Given the description of an element on the screen output the (x, y) to click on. 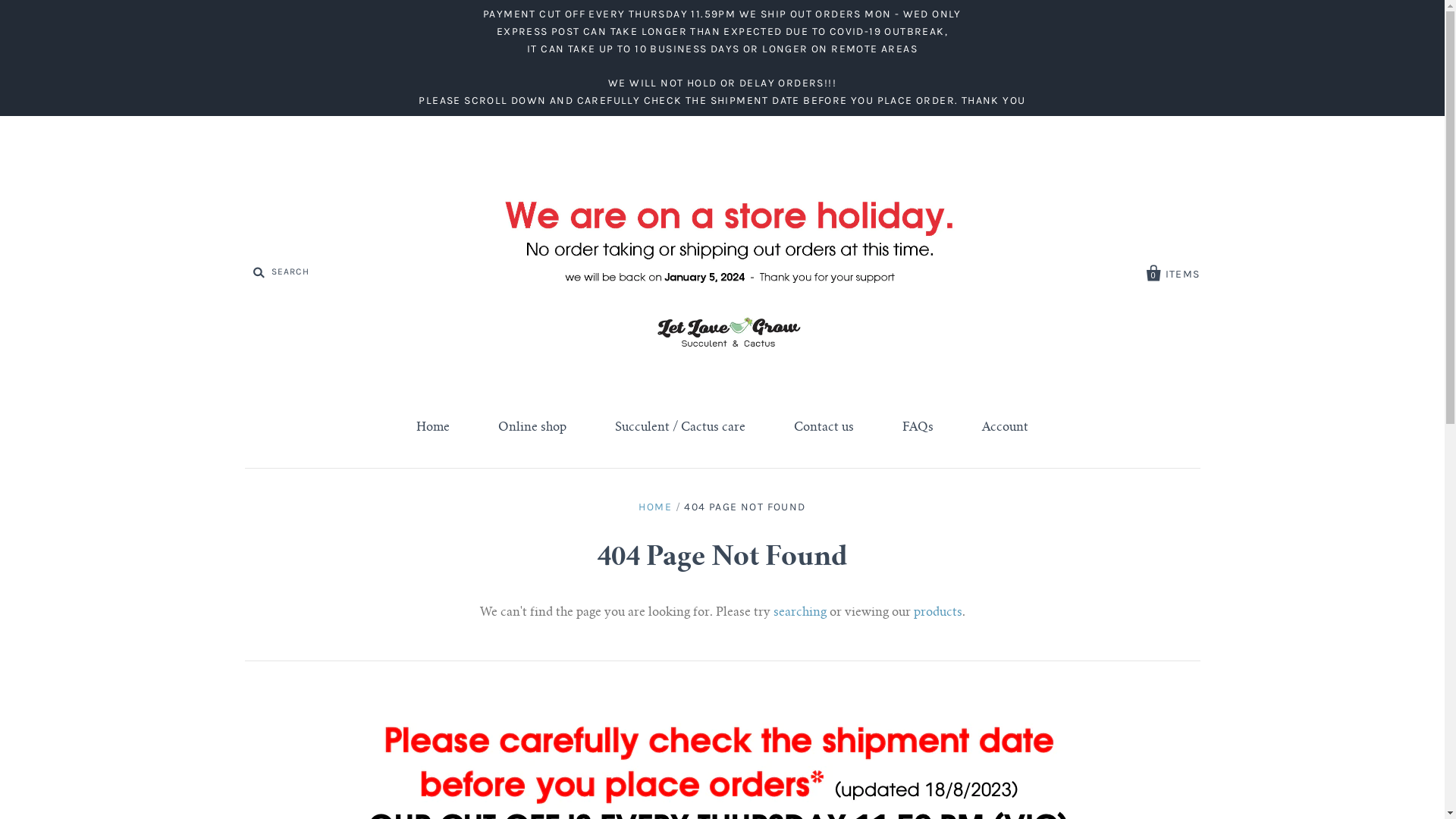
Account Element type: text (1005, 427)
HOME Element type: text (654, 506)
products Element type: text (937, 612)
Home Element type: text (432, 427)
0
ITEMS Element type: text (1173, 270)
Contact us Element type: text (823, 427)
FAQs Element type: text (917, 427)
searching Element type: text (799, 612)
Online shop Element type: text (532, 427)
Succulent / Cactus care Element type: text (680, 427)
